Given the description of an element on the screen output the (x, y) to click on. 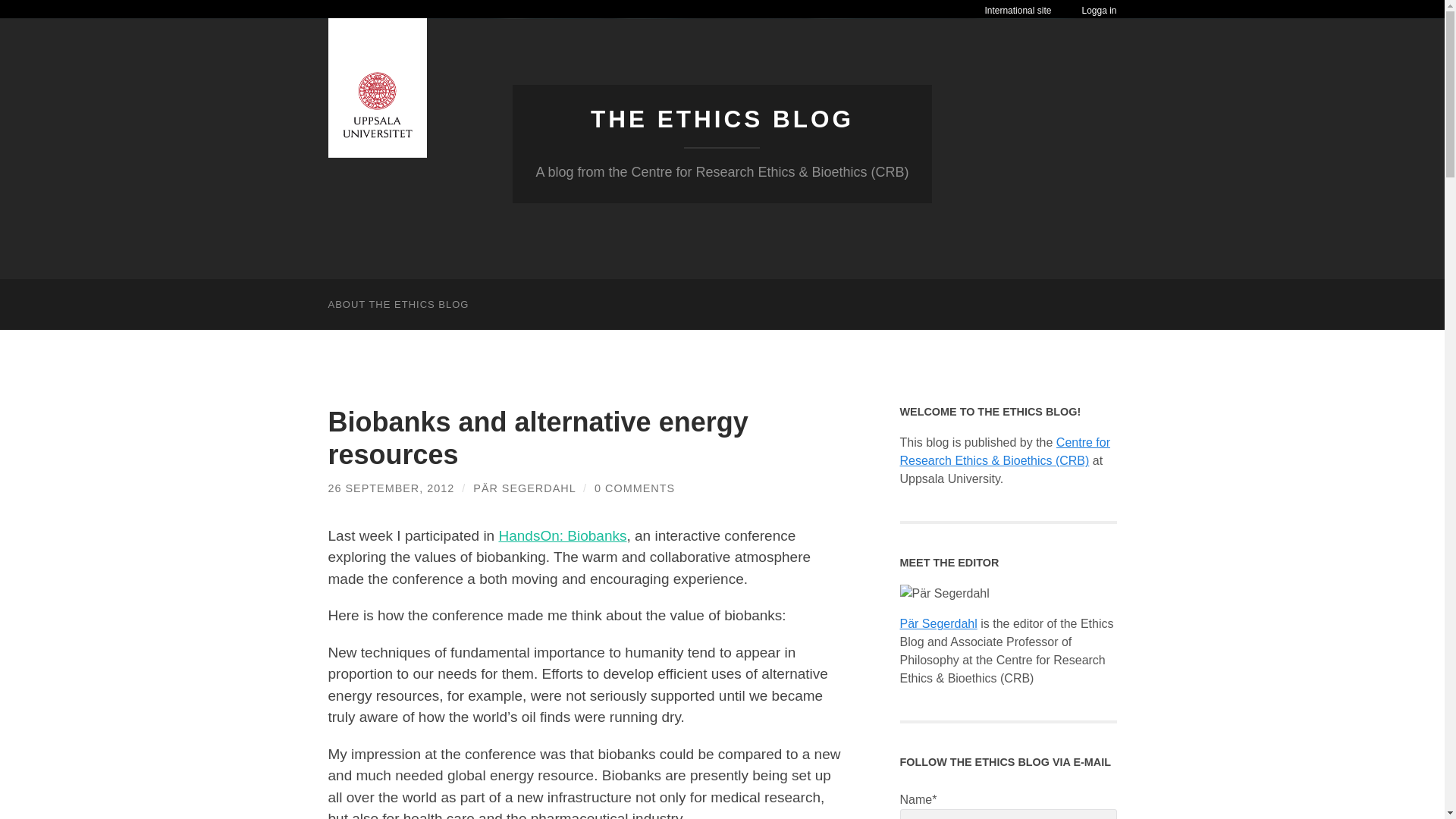
THE ETHICS BLOG (722, 118)
0 COMMENTS (634, 488)
26 SEPTEMBER, 2012 (390, 488)
International site (1017, 9)
Logga in (1098, 11)
HandsOn: Biobanks (561, 535)
ABOUT THE ETHICS BLOG (398, 304)
